Given the description of an element on the screen output the (x, y) to click on. 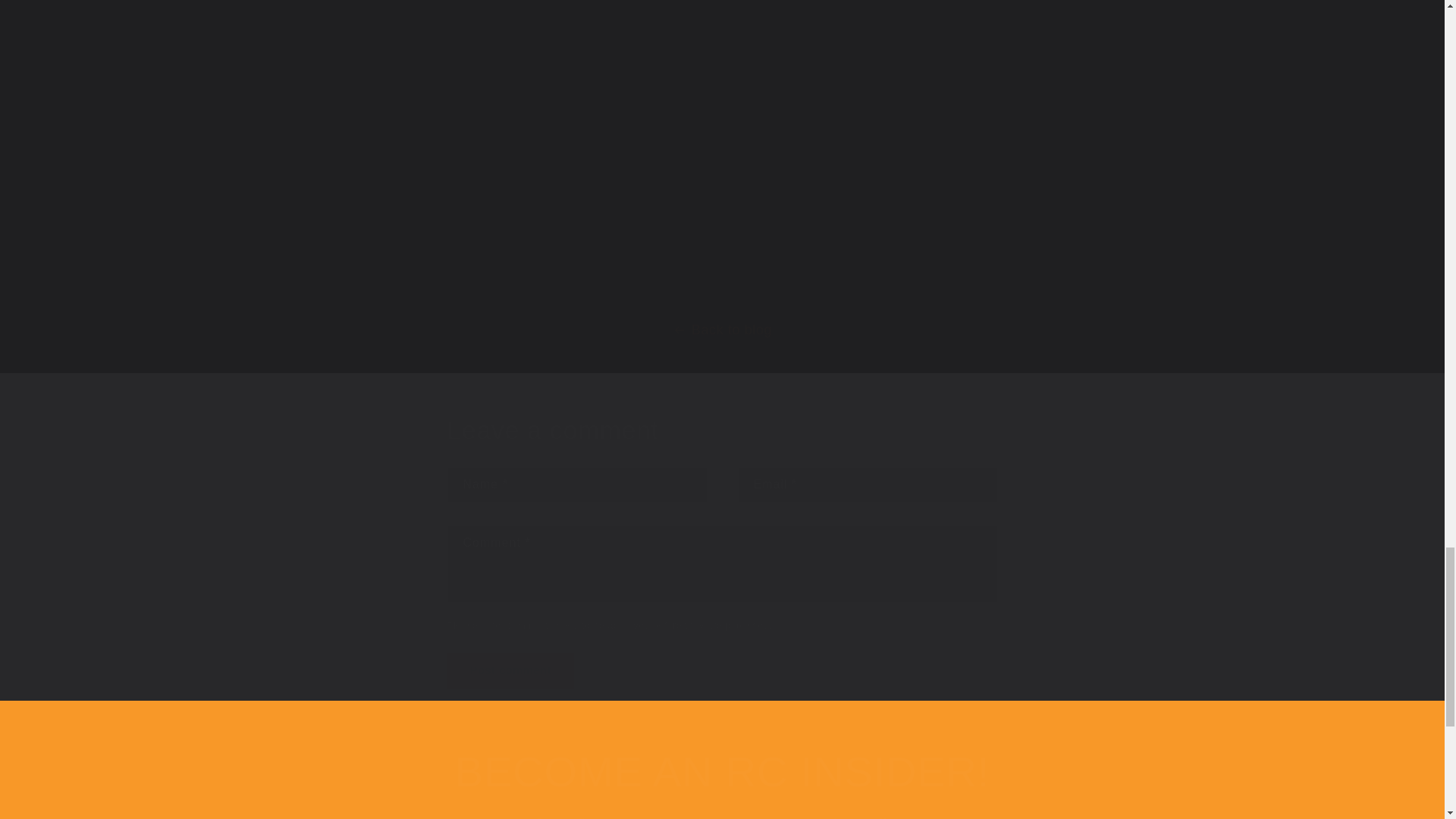
BECOME AN RC INSIDER! (721, 771)
Post comment (510, 670)
